Given the description of an element on the screen output the (x, y) to click on. 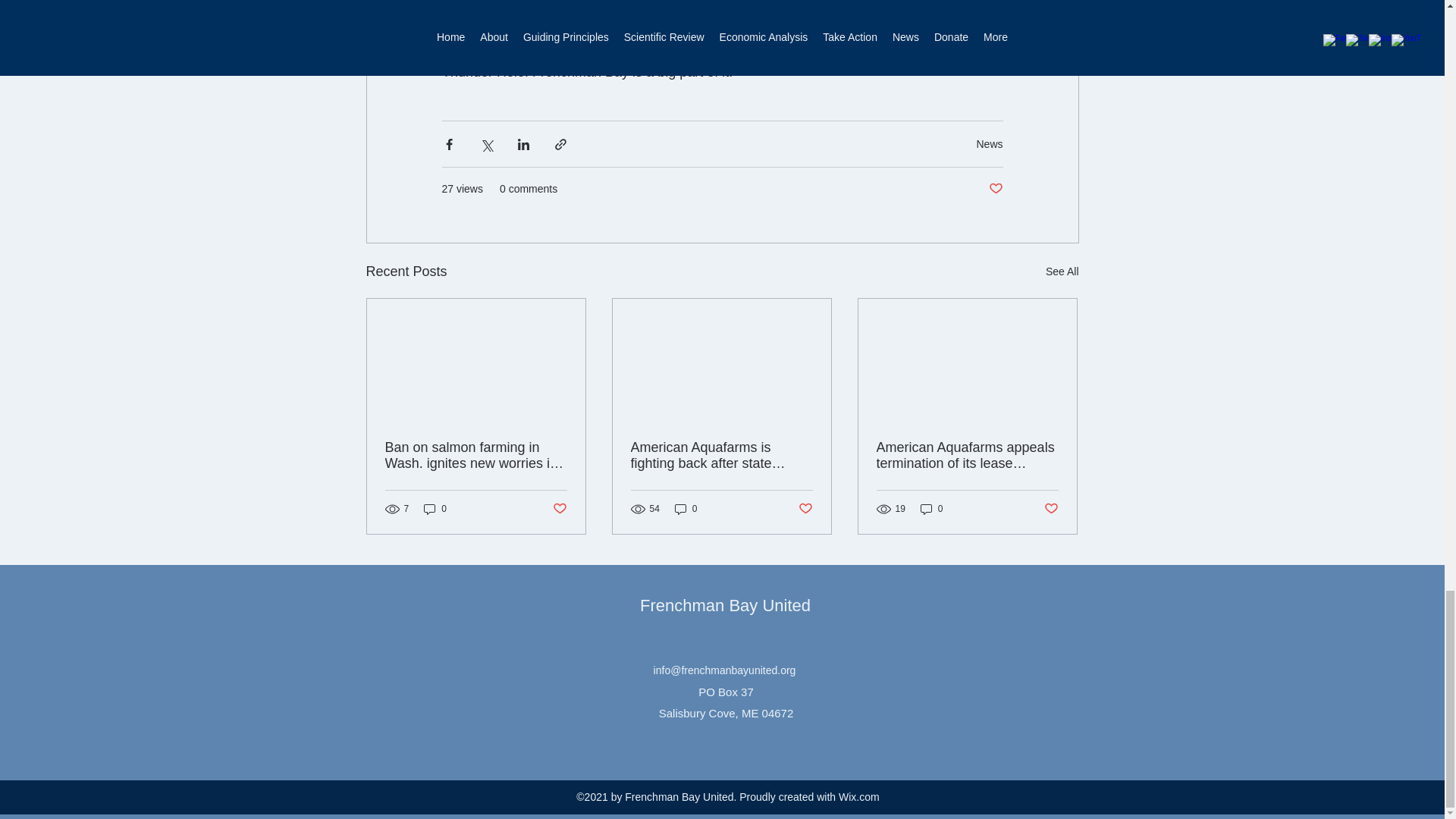
0 (435, 509)
Ban on salmon farming in Wash. ignites new worries in Maine (476, 455)
Post not marked as liked (995, 188)
News (989, 143)
0 (685, 509)
Post not marked as liked (558, 508)
See All (1061, 271)
